Given the description of an element on the screen output the (x, y) to click on. 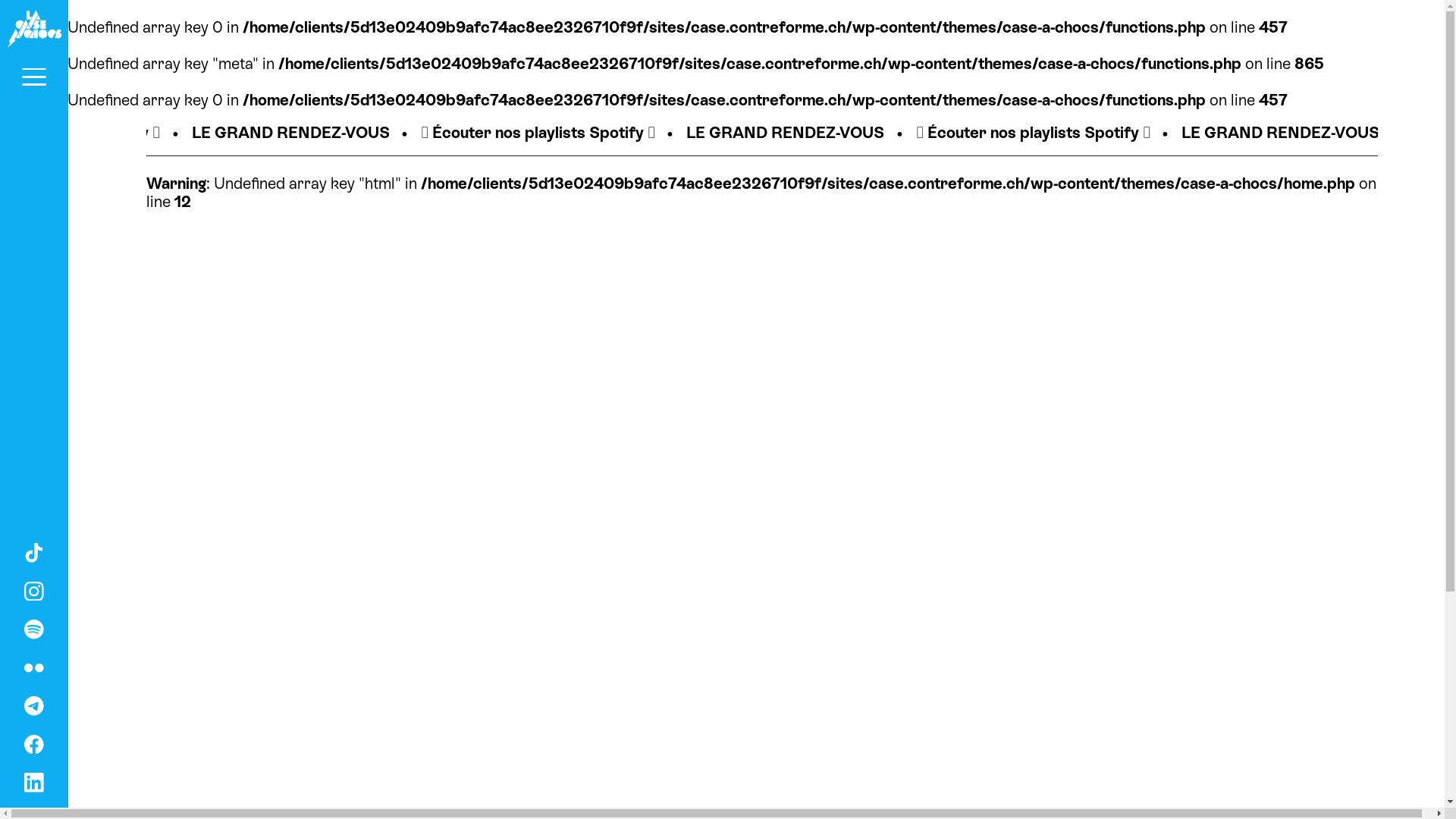
Spotify Element type: text (34, 626)
Facebook Element type: text (34, 742)
  Element type: text (34, 28)
LE GRAND RENDEZ-VOUS Element type: text (1080, 132)
Instagram Element type: text (34, 588)
Flickr Element type: text (34, 665)
TikTok Element type: text (34, 550)
LinkedIn Element type: text (34, 779)
Telegram Element type: text (34, 703)
LE GRAND RENDEZ-VOUS Element type: text (587, 132)
